Given the description of an element on the screen output the (x, y) to click on. 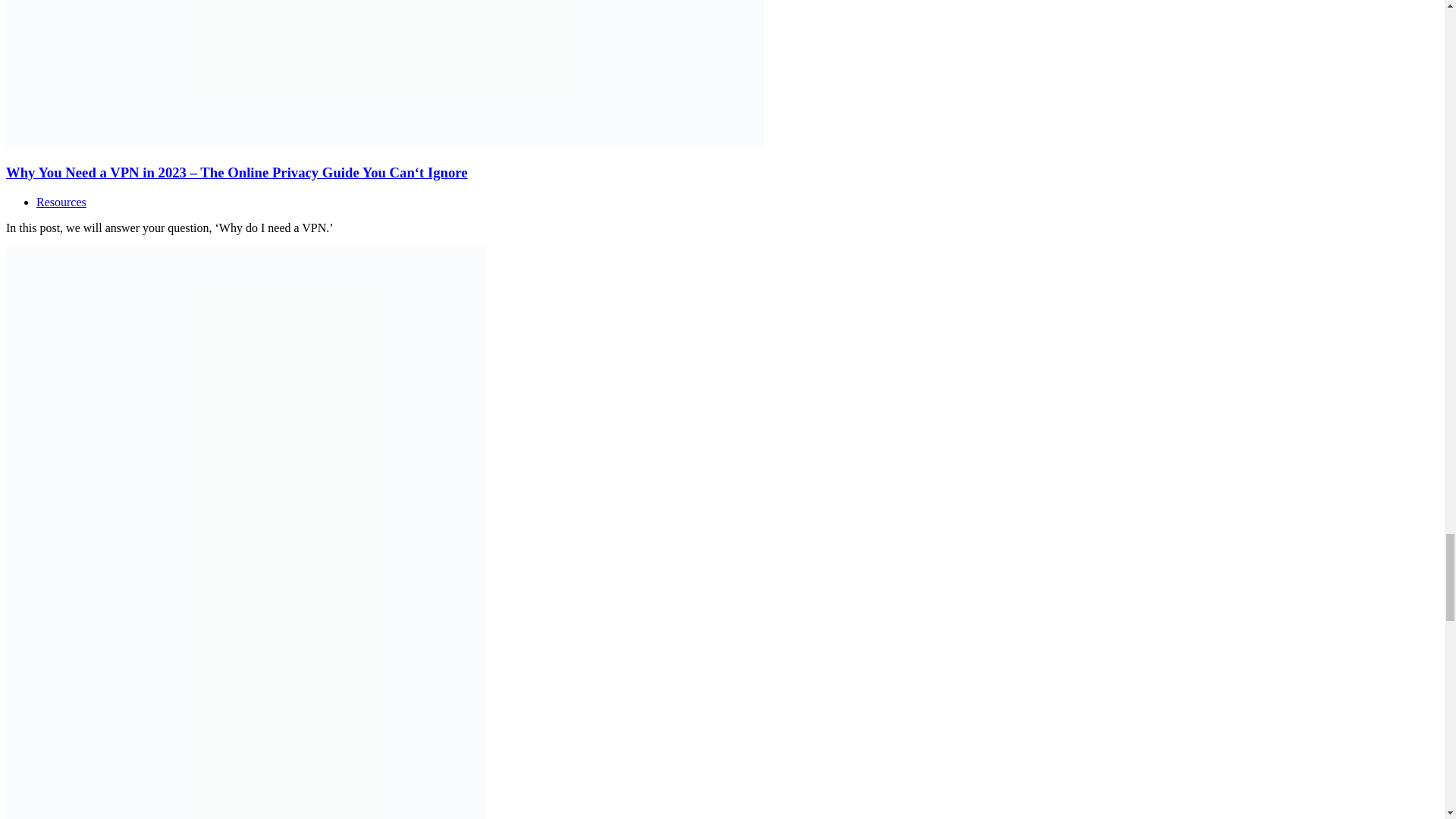
Resources (60, 201)
